Given the description of an element on the screen output the (x, y) to click on. 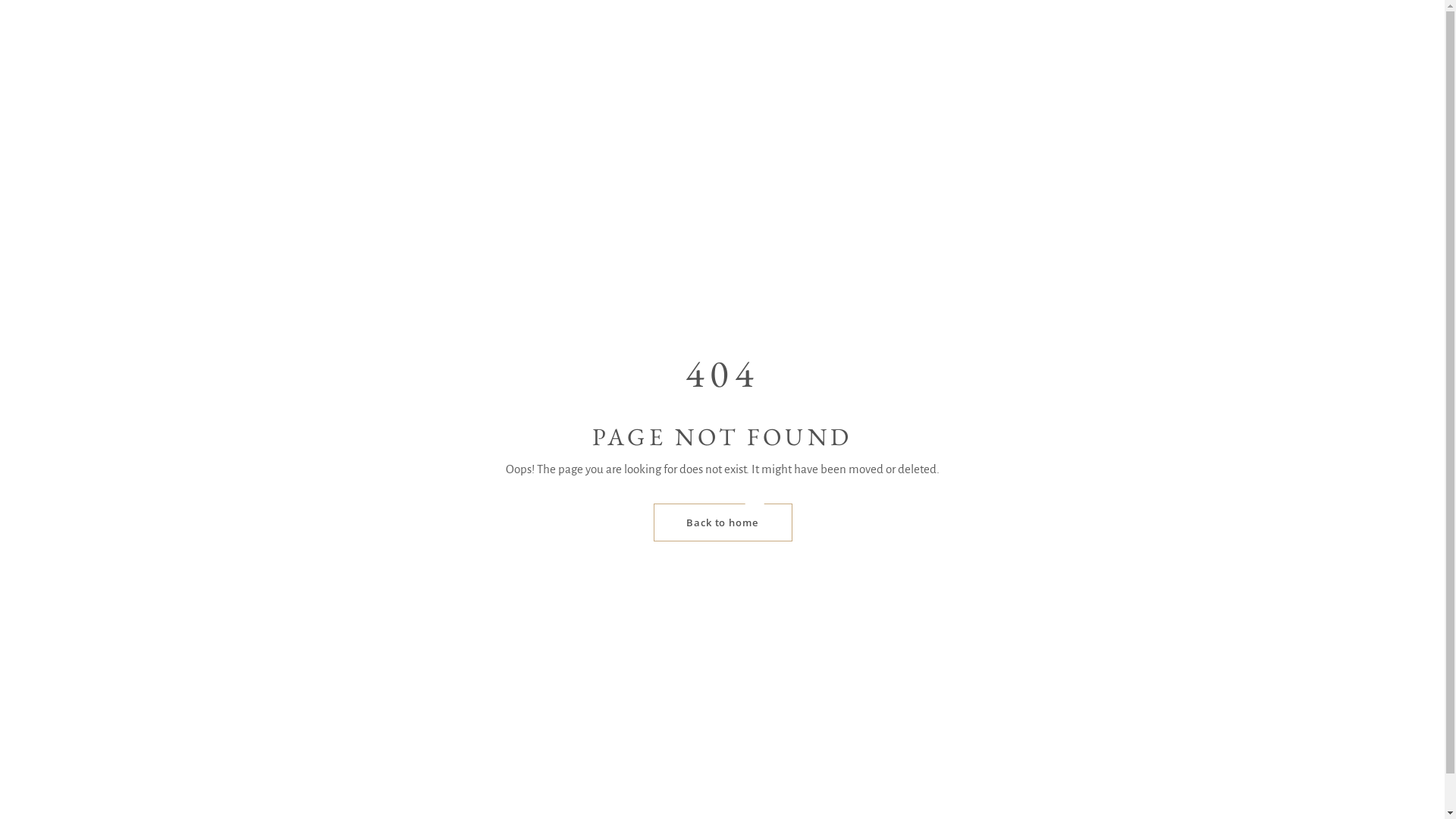
CONTACT Element type: text (806, 129)
PROJECTS Element type: text (653, 129)
Back to home Element type: text (721, 521)
ART Element type: text (730, 129)
WEGLOT SWITCHER Element type: text (933, 129)
HOME Element type: text (464, 129)
